Given the description of an element on the screen output the (x, y) to click on. 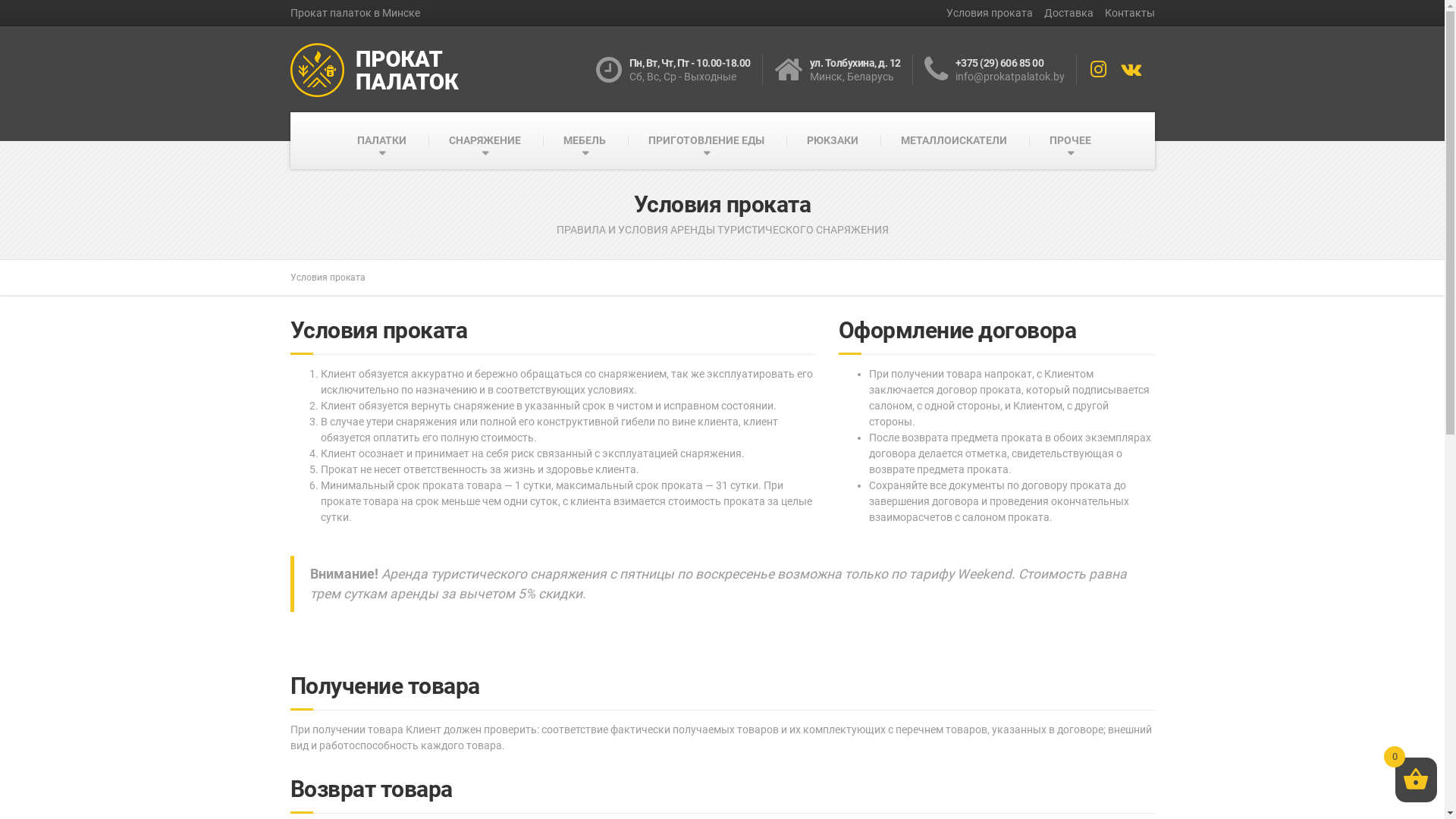
+375 (29) 606 85 00
info@prokatpalatok.by Element type: text (999, 69)
